Given the description of an element on the screen output the (x, y) to click on. 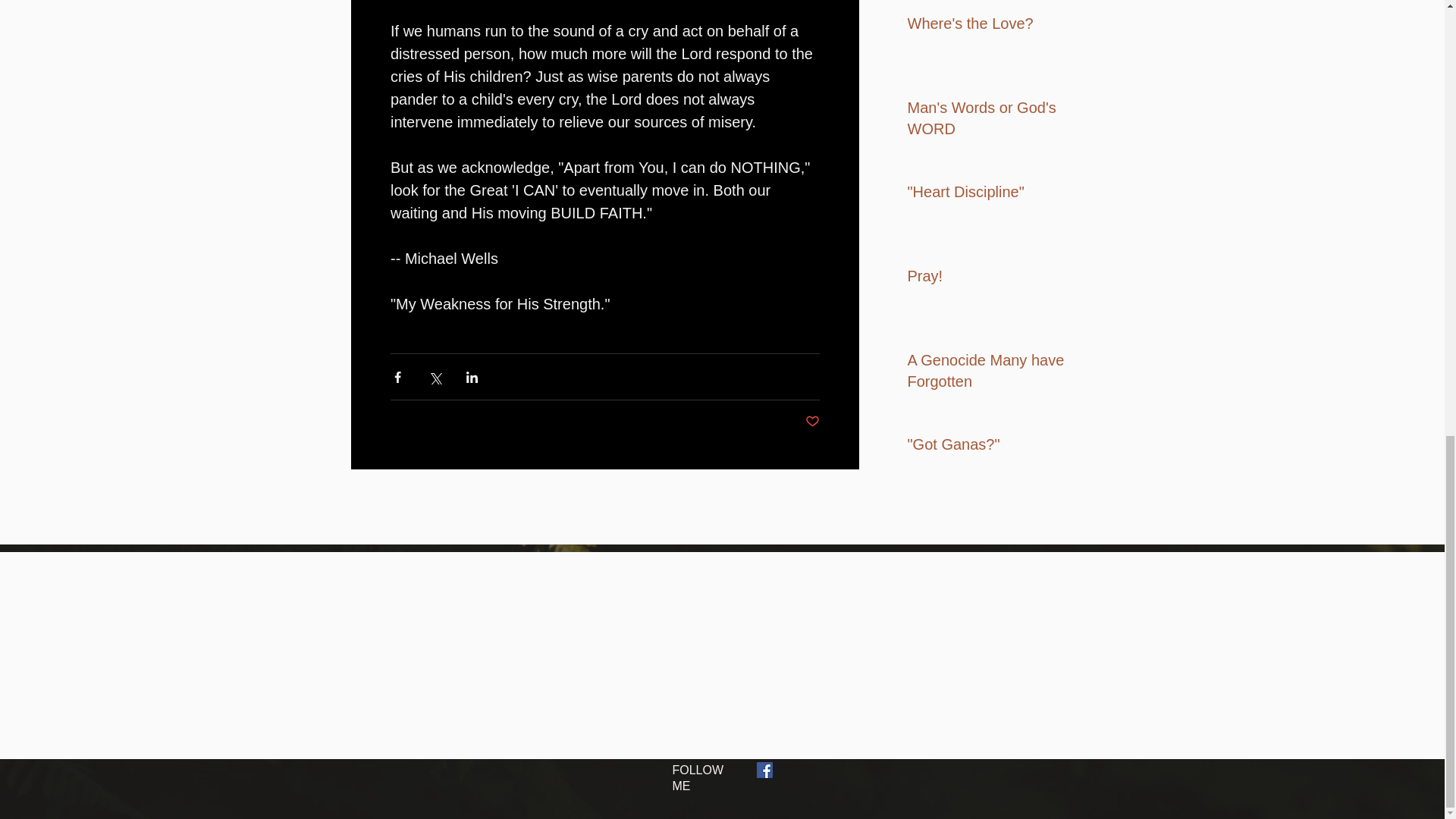
Pray! (995, 278)
A Genocide Many have Forgotten (995, 373)
"Heart Discipline" (995, 194)
Where's the Love? (995, 26)
Post not marked as liked (812, 421)
"Got Ganas?" (995, 447)
Man's Words or God's WORD (995, 121)
